Given the description of an element on the screen output the (x, y) to click on. 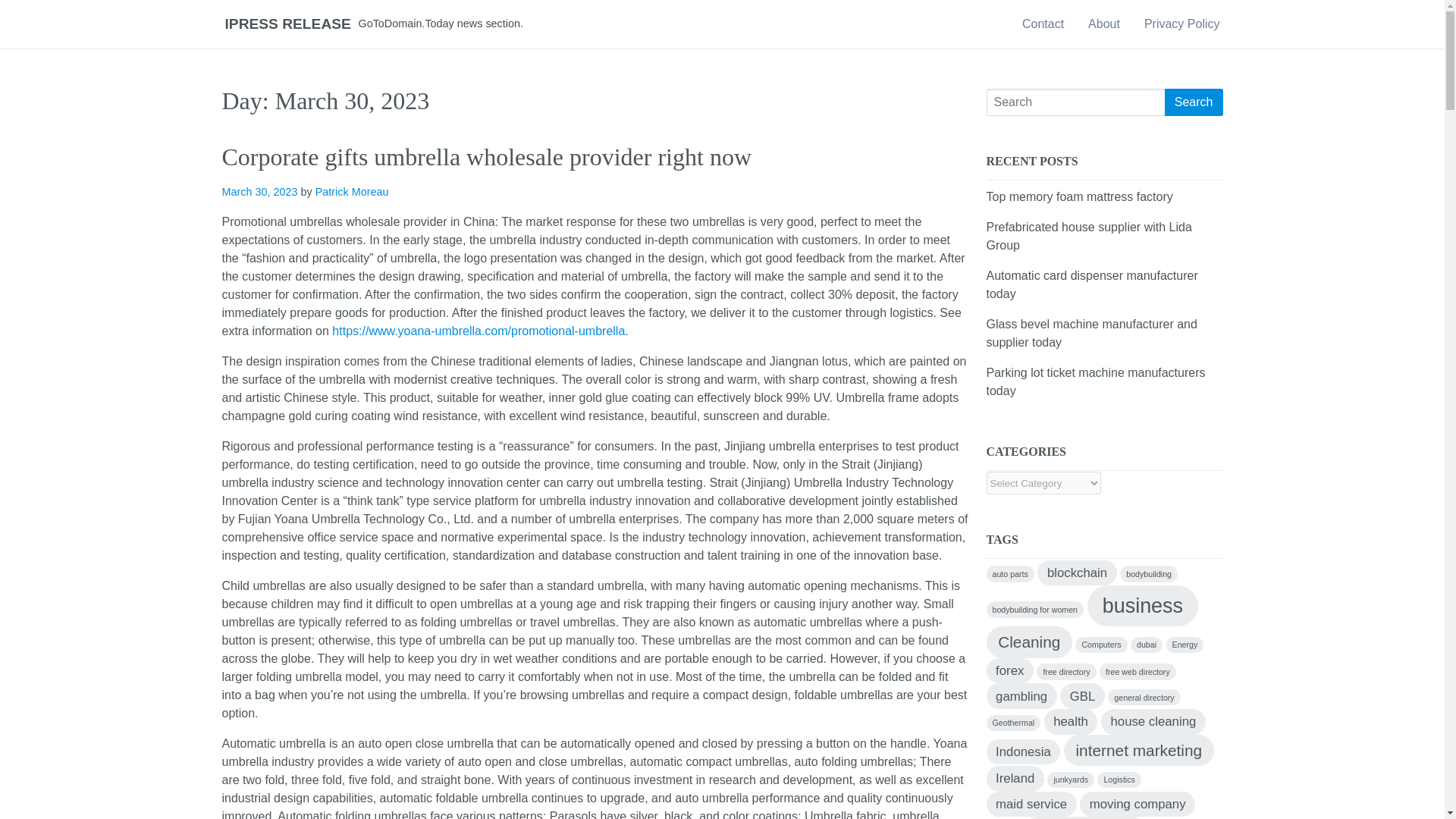
bodybuilding for women (1034, 609)
auto parts (1009, 573)
About (1103, 24)
Privacy Policy (1181, 24)
Automatic card dispenser manufacturer today (1090, 284)
Top memory foam mattress factory (1078, 196)
Prefabricated house supplier with Lida Group (1088, 235)
Patrick Moreau (351, 191)
IPRESS RELEASE (287, 23)
